Given the description of an element on the screen output the (x, y) to click on. 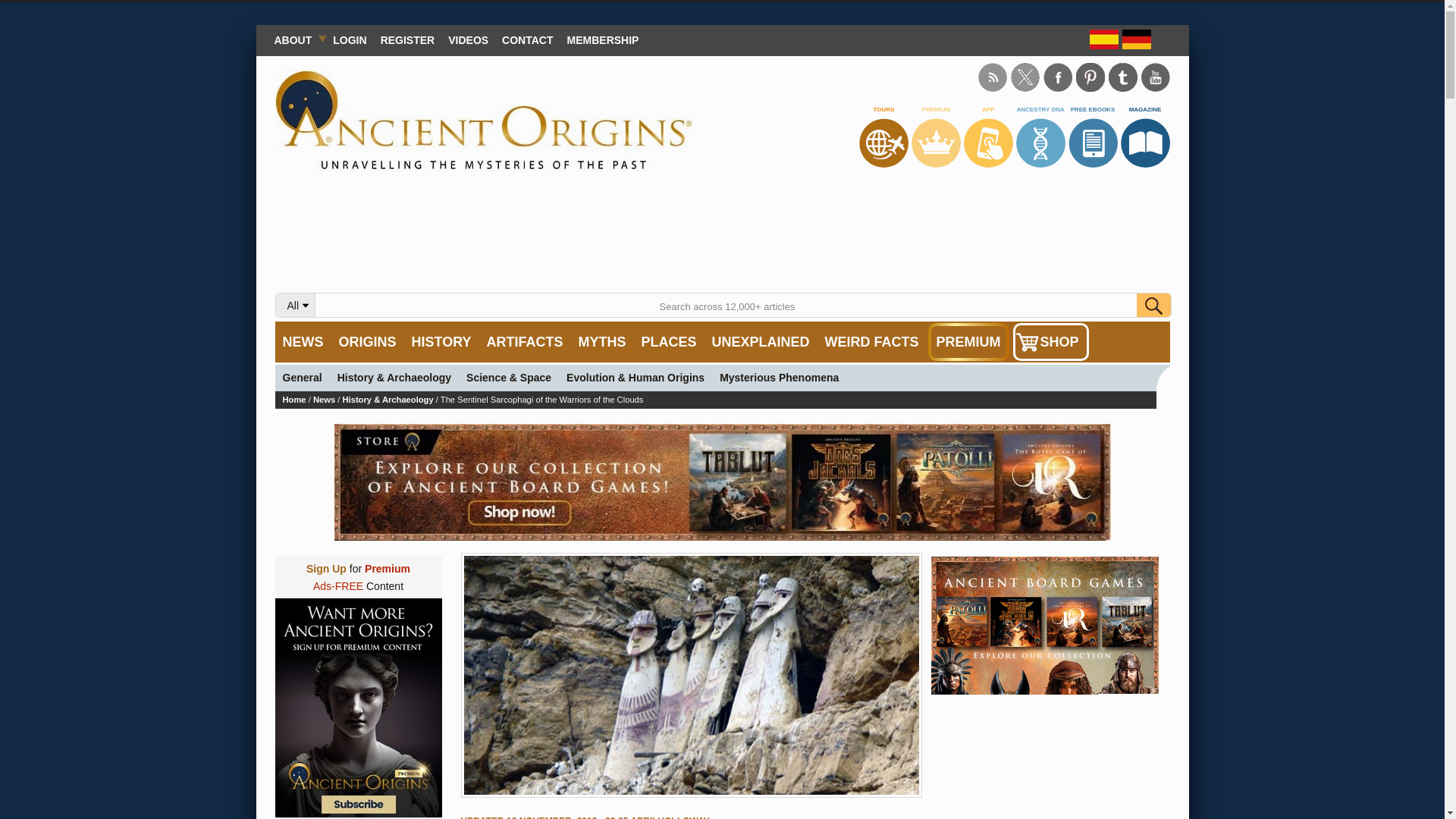
Contact us (526, 40)
Our Mission (296, 40)
Video Gallery (468, 40)
Find (1152, 304)
Login (349, 40)
LOGIN (349, 40)
VIDEOS (468, 40)
REGISTER (408, 40)
CONTACT (526, 40)
